Given the description of an element on the screen output the (x, y) to click on. 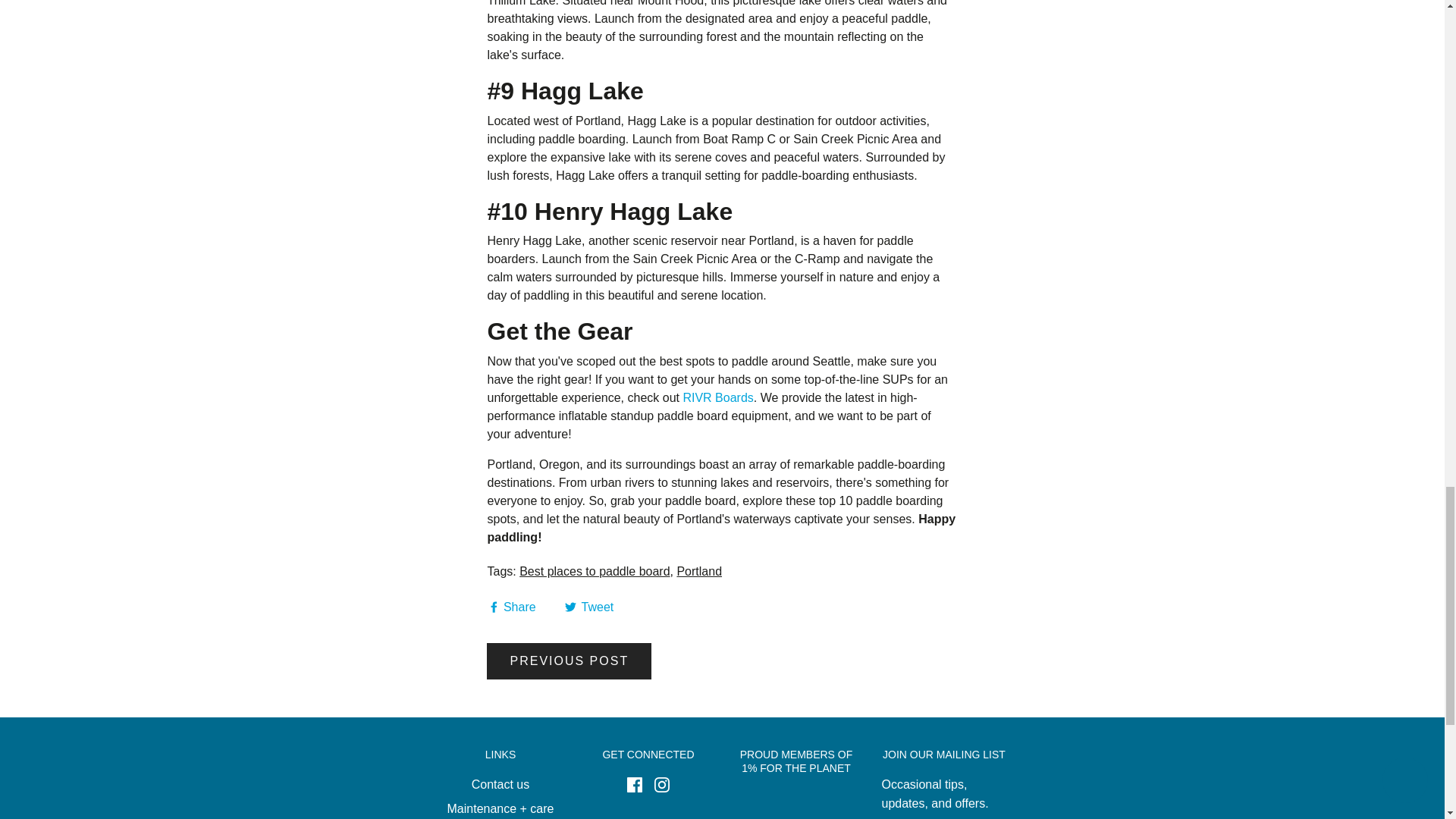
Contact us (500, 787)
Tweet (588, 606)
RIVR Boards (717, 397)
Instagram icon (661, 784)
Share (513, 606)
Best places to paddle board (594, 571)
Portland (699, 571)
Facebook icon (634, 784)
PREVIOUS POST (568, 660)
